Given the description of an element on the screen output the (x, y) to click on. 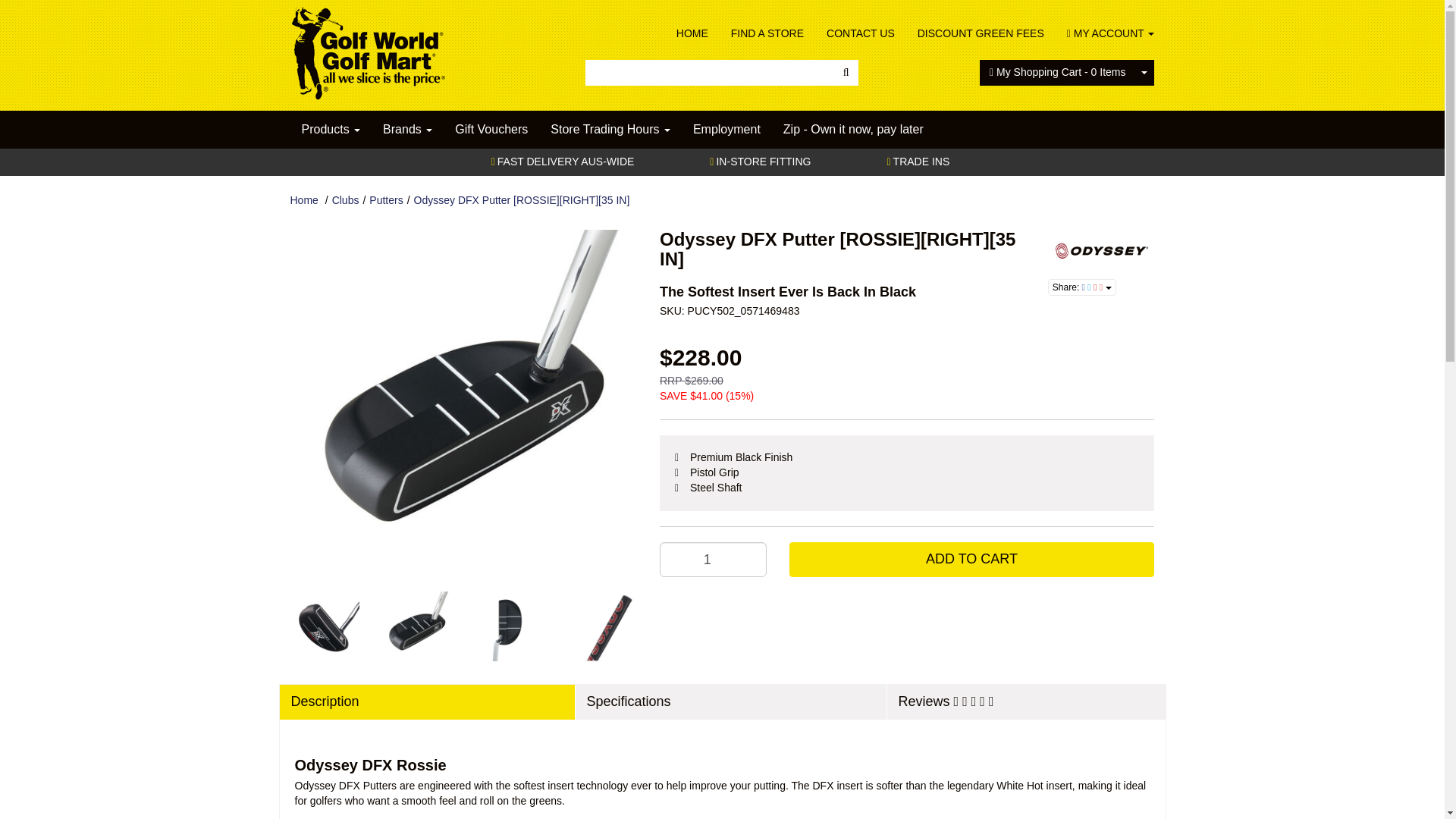
Search (845, 72)
Add to Cart (971, 559)
CONTACT US (860, 33)
1 (713, 559)
Large View (602, 625)
Large View (509, 625)
Odyssey (1101, 250)
My Shopping Cart - 0 Items (1057, 72)
DISCOUNT GREEN FEES (980, 33)
MY ACCOUNT (1104, 33)
HOME (692, 33)
Large View (416, 625)
Large View (324, 625)
Golf World (366, 49)
Products (330, 129)
